Given the description of an element on the screen output the (x, y) to click on. 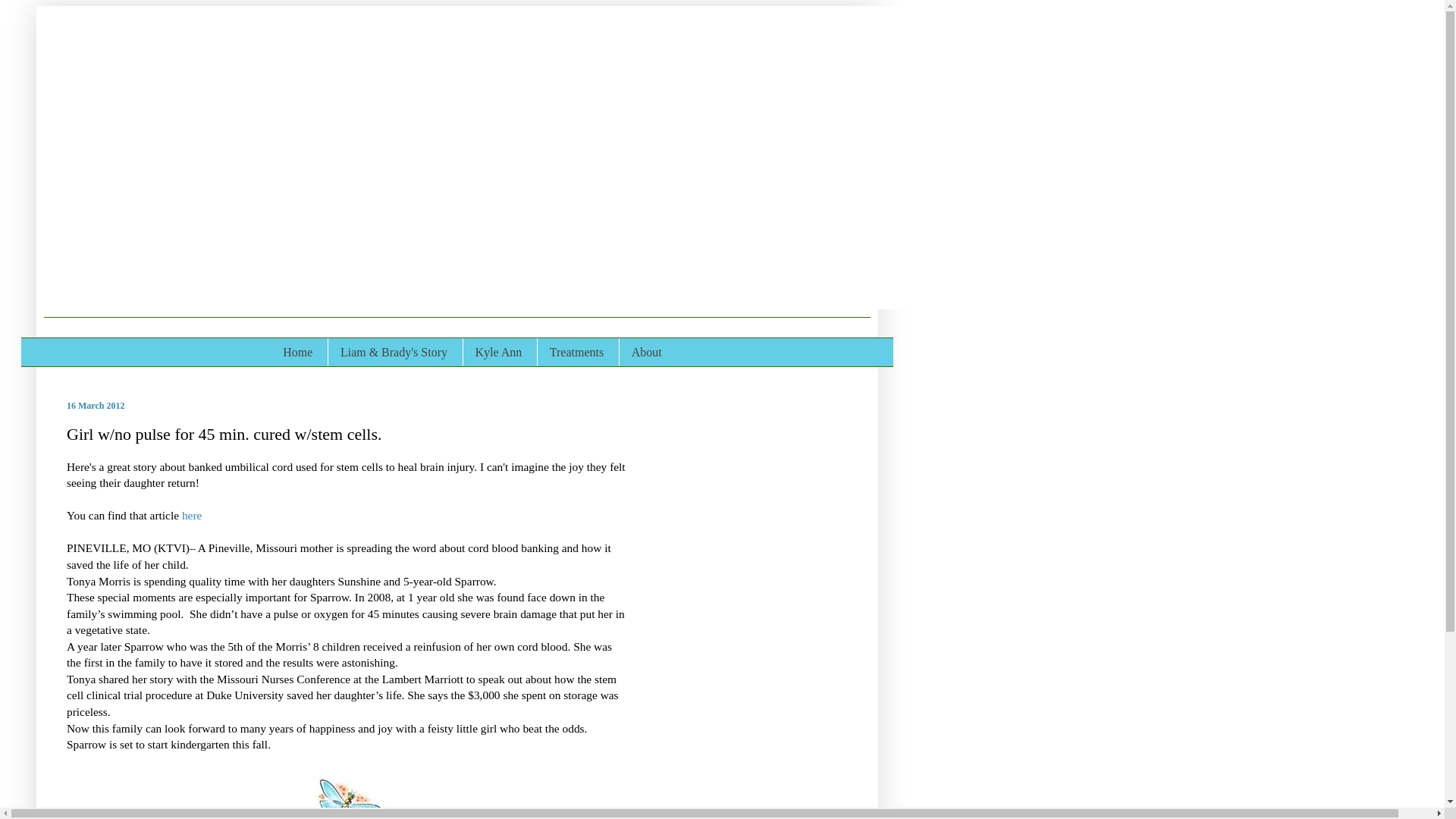
here (192, 514)
About (646, 352)
Treatments (576, 352)
Home (297, 352)
Kyle Ann (498, 352)
